Given the description of an element on the screen output the (x, y) to click on. 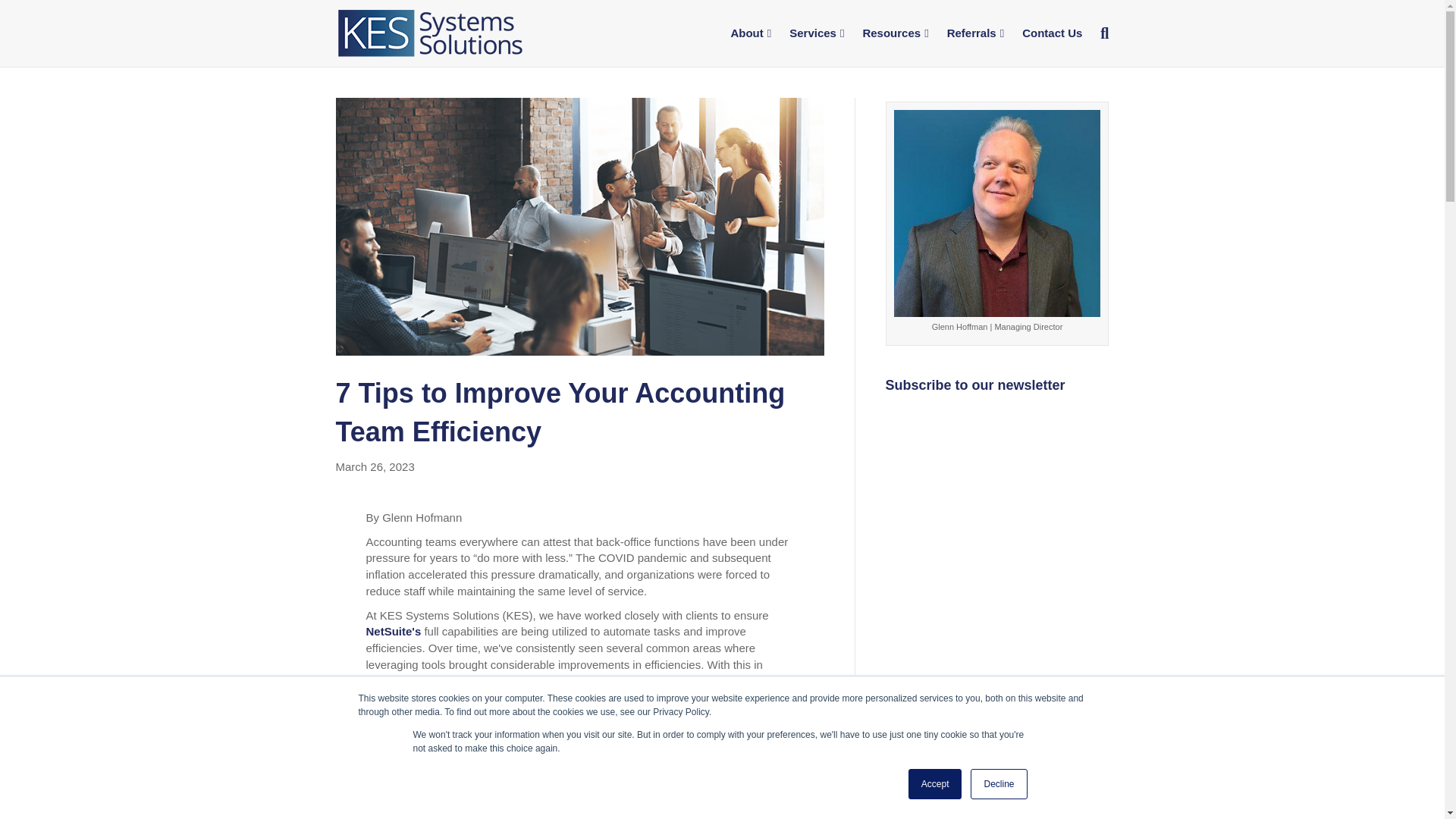
Decline (998, 784)
Accept (935, 784)
About (750, 33)
Form 0 (997, 576)
Services (816, 33)
